Given the description of an element on the screen output the (x, y) to click on. 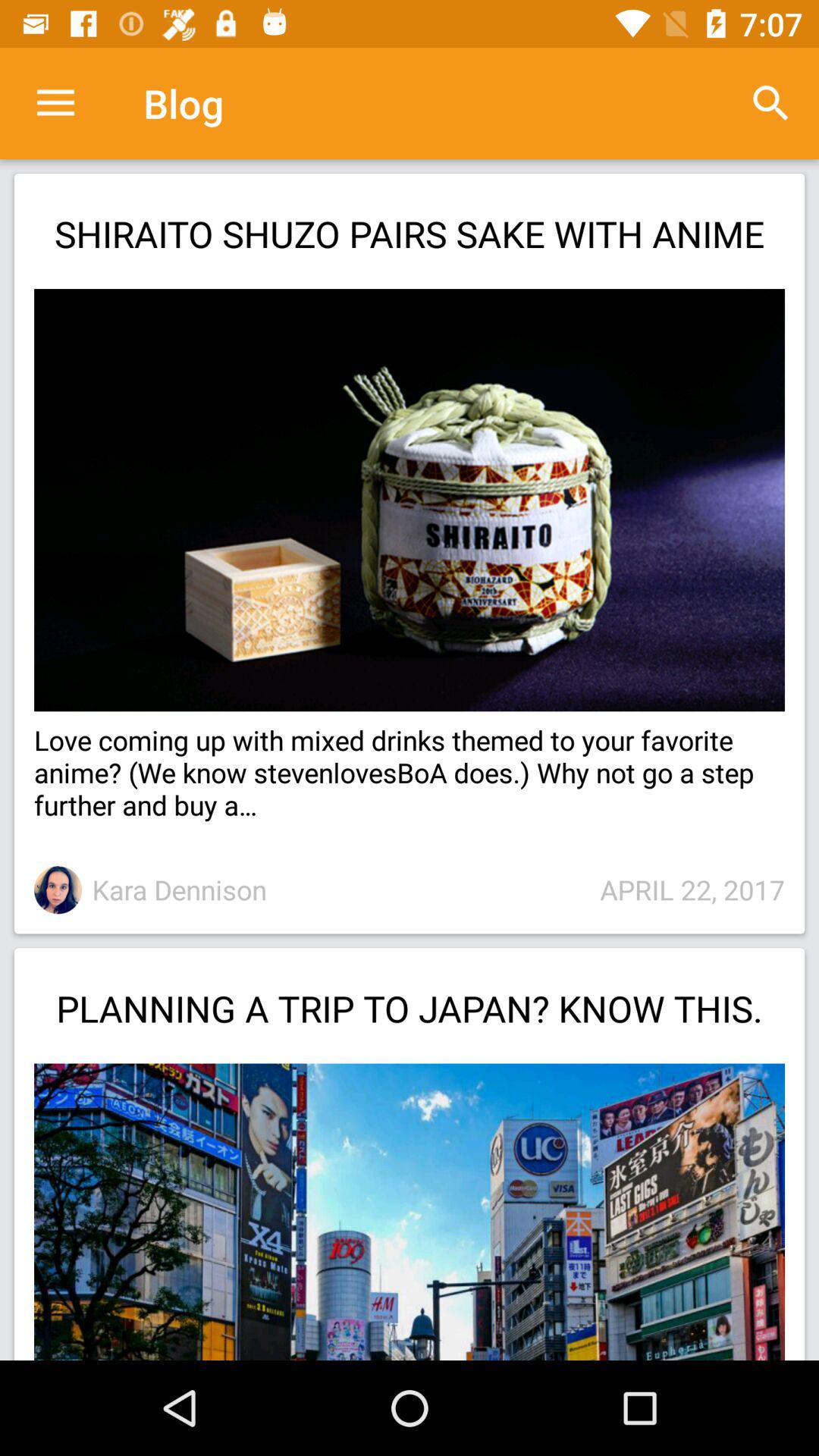
turn on the item above the shiraito shuzo pairs icon (771, 103)
